Given the description of an element on the screen output the (x, y) to click on. 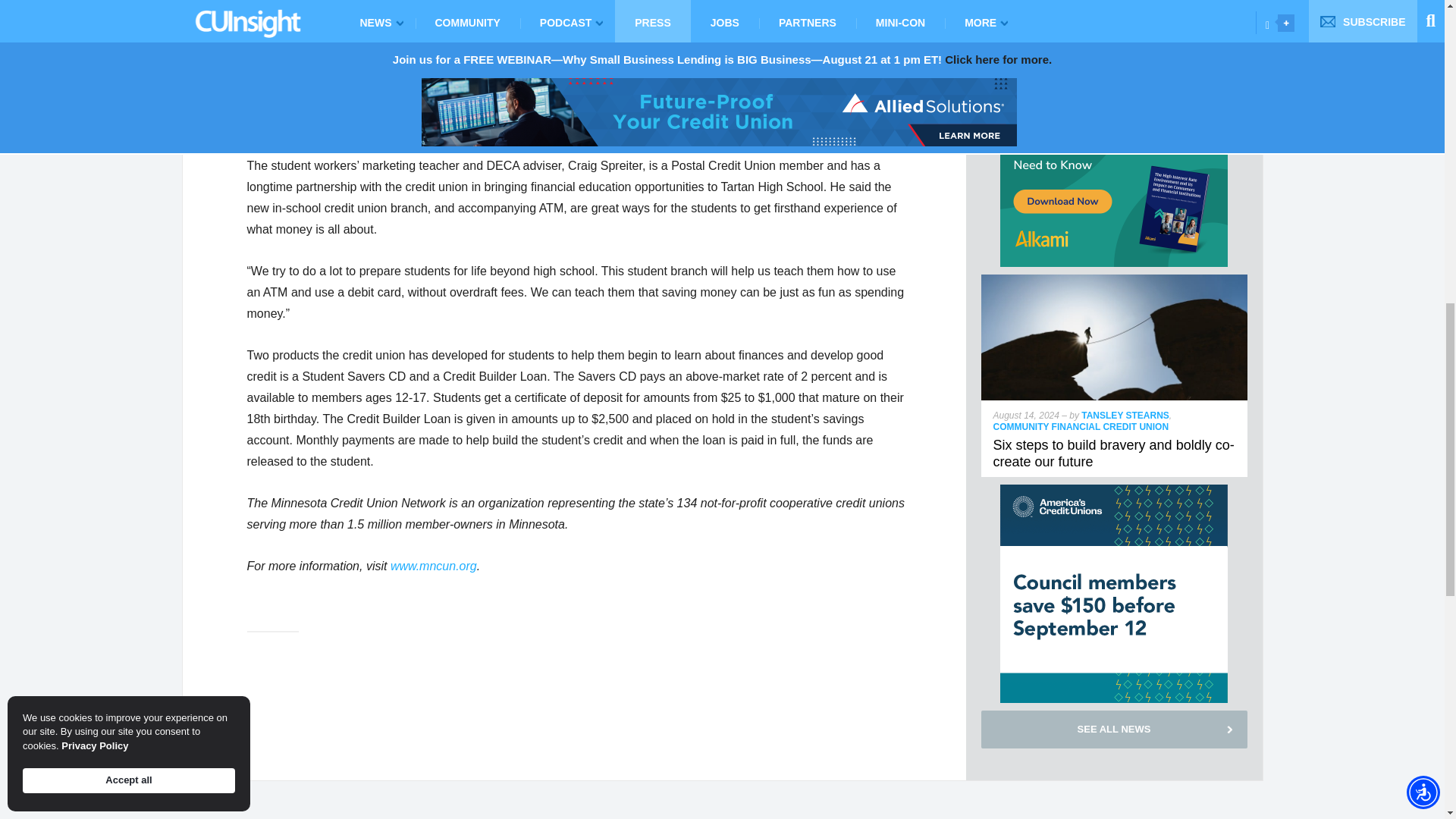
Six steps to build bravery and boldly co-create our future (1113, 453)
Six steps to build bravery and boldly co-create our future (1114, 280)
